Given the description of an element on the screen output the (x, y) to click on. 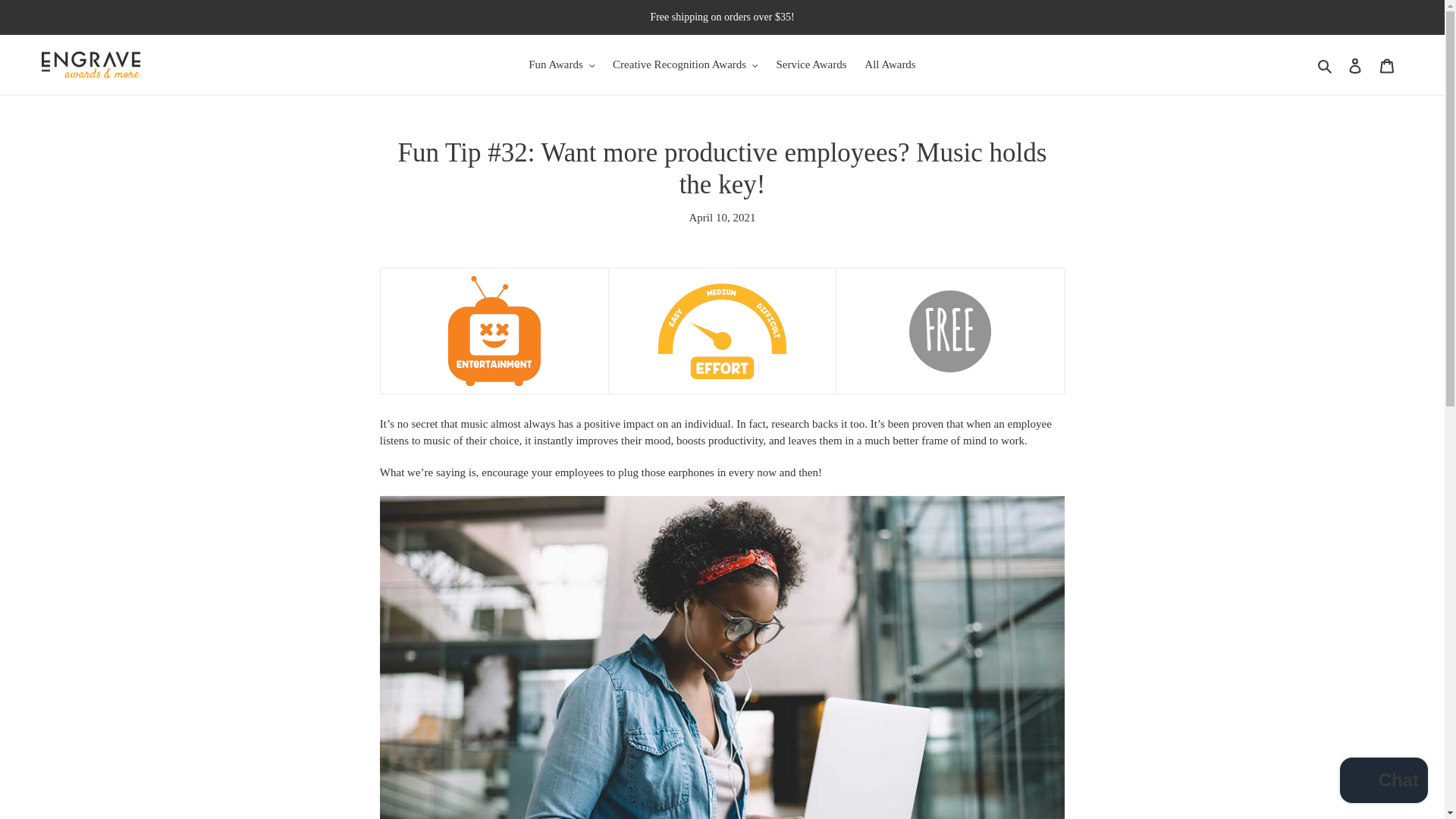
Log in (1355, 64)
Cart (1387, 64)
Shopify online store chat (1383, 781)
All Awards (890, 65)
Fun Awards (561, 65)
Creative Recognition Awards (685, 65)
Search (1326, 64)
Service Awards (810, 65)
